Given the description of an element on the screen output the (x, y) to click on. 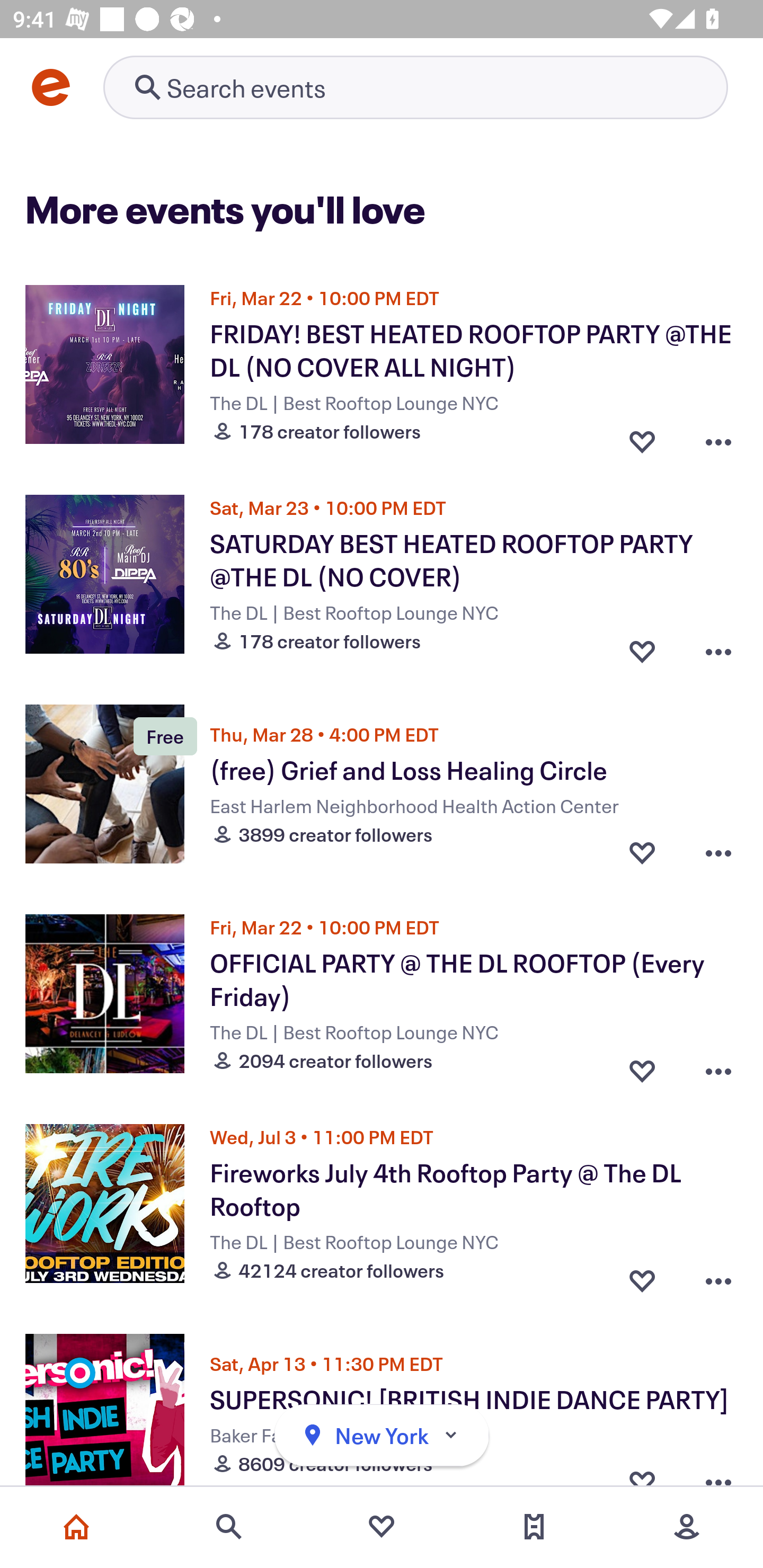
Retry's image Search events (415, 86)
Favorite button (642, 436)
Overflow menu button (718, 436)
Favorite button (642, 646)
Overflow menu button (718, 646)
Favorite button (642, 852)
Overflow menu button (718, 852)
Favorite button (642, 1066)
Overflow menu button (718, 1066)
Favorite button (642, 1275)
Overflow menu button (718, 1275)
New York (381, 1435)
Home (76, 1526)
Search events (228, 1526)
Favorites (381, 1526)
Tickets (533, 1526)
More (686, 1526)
